Given the description of an element on the screen output the (x, y) to click on. 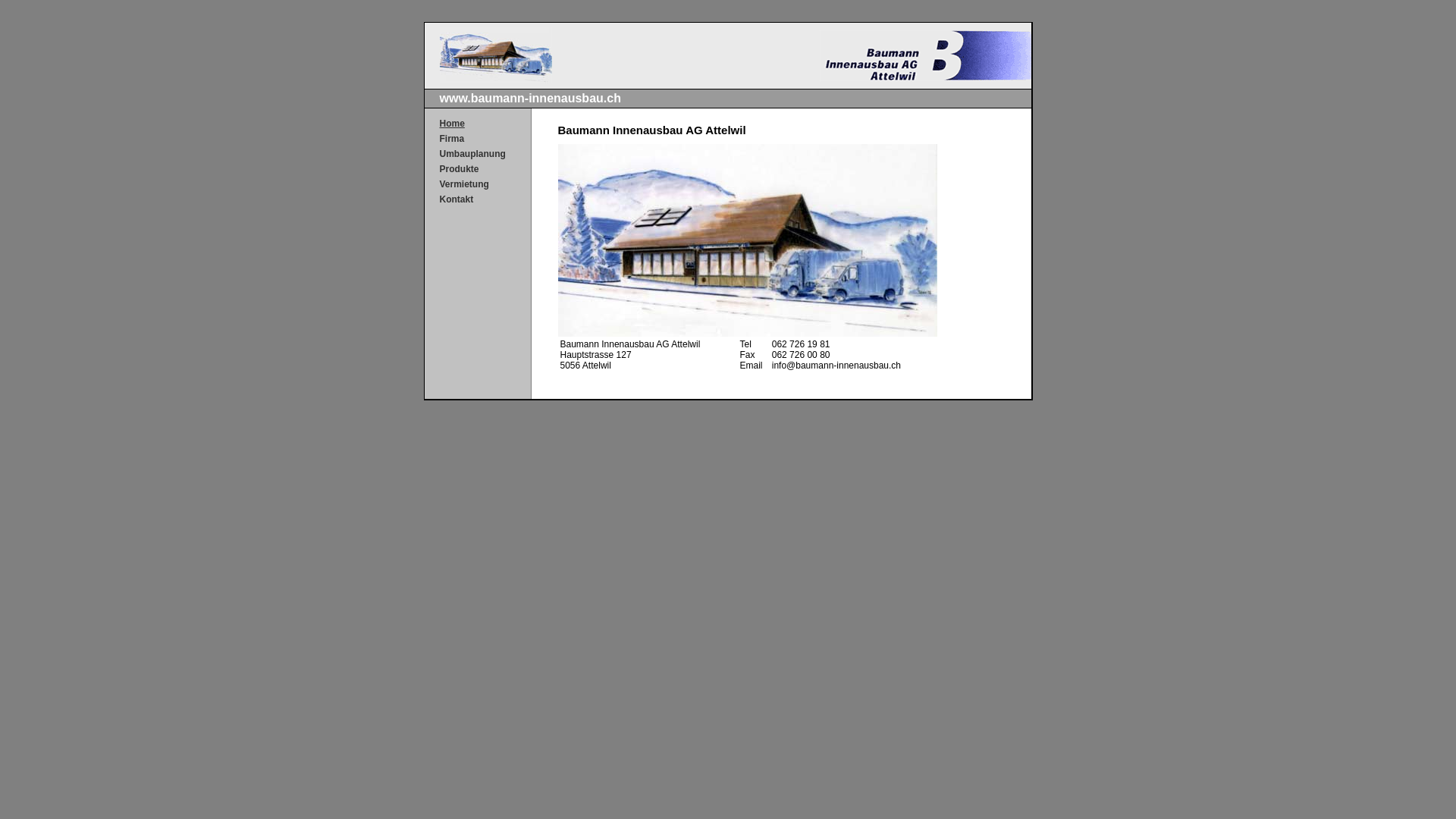
Vermietung Element type: text (460, 183)
Produkte Element type: text (455, 168)
Firma Element type: text (477, 138)
info@baumann-innenausbau.ch Element type: text (835, 365)
Firma Element type: text (448, 138)
Home Element type: text (448, 123)
Umbauplanung Element type: text (468, 153)
Kontakt Element type: text (452, 199)
Produkte Element type: text (477, 168)
